Given the description of an element on the screen output the (x, y) to click on. 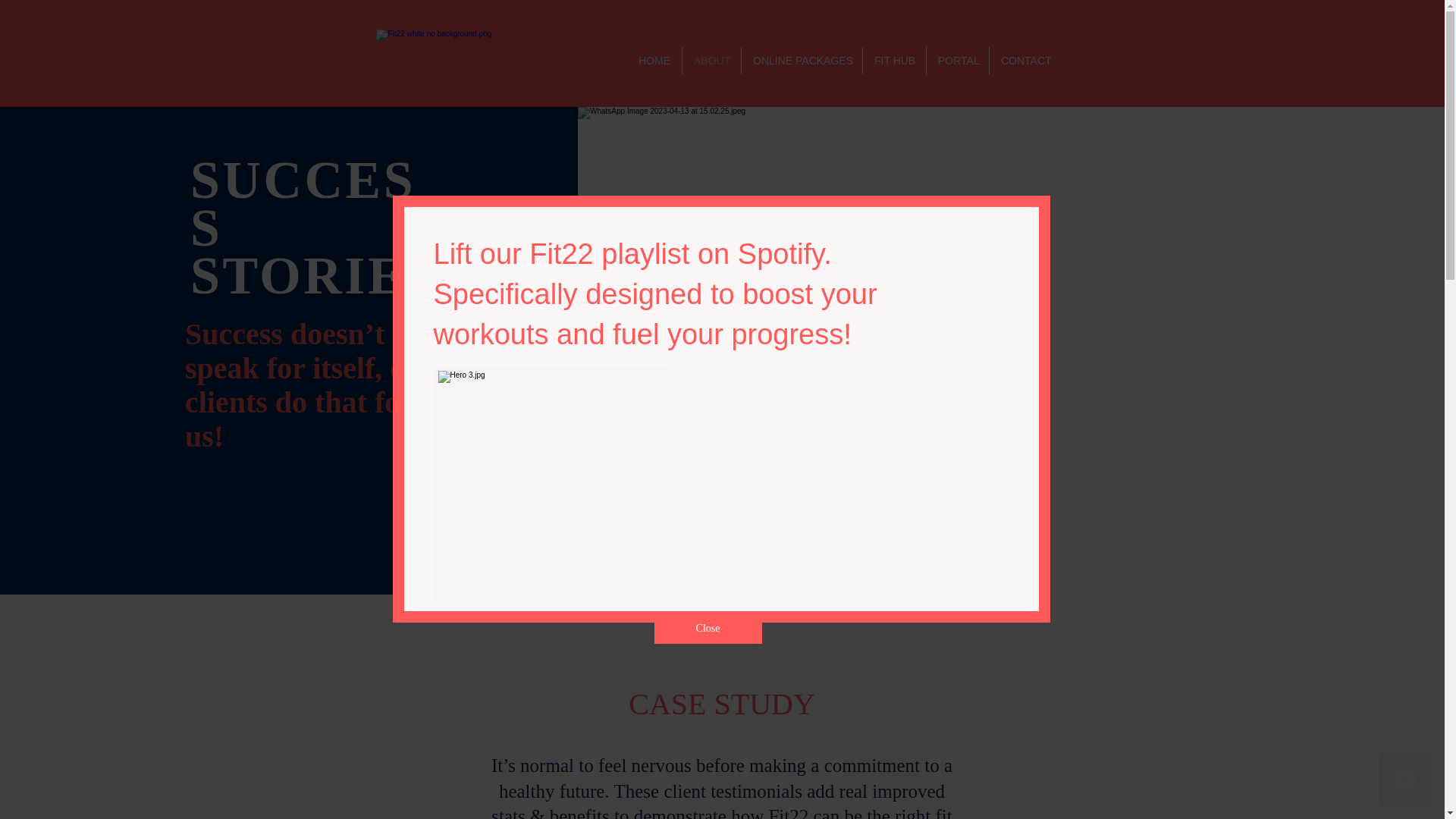
PORTAL (957, 60)
CONTACT (1025, 60)
Embedded Content (859, 461)
FIT HUB (894, 60)
HOME (654, 60)
ONLINE PACKAGES (801, 60)
ABOUT (711, 60)
